Given the description of an element on the screen output the (x, y) to click on. 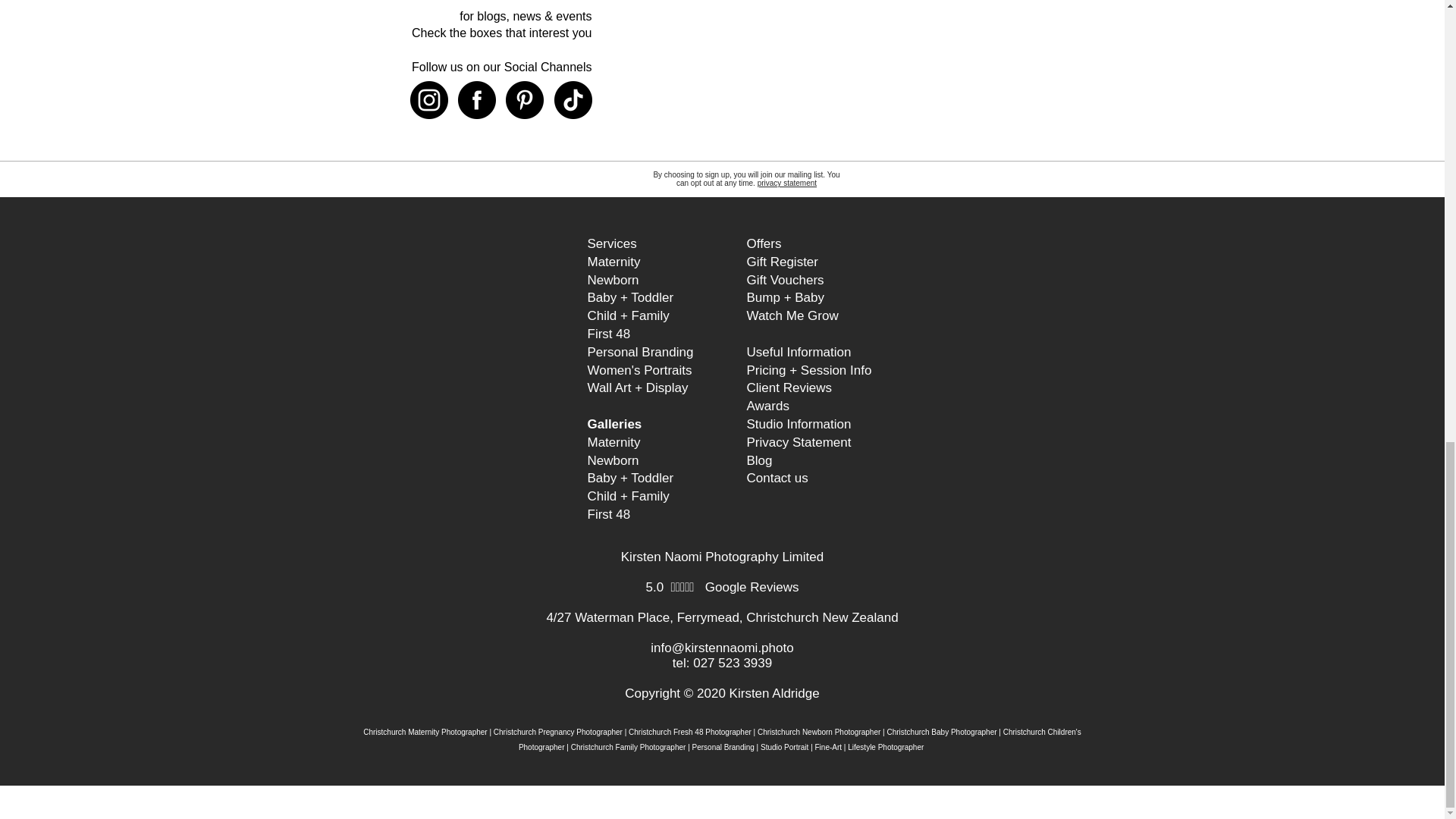
Maternity (613, 261)
Services (611, 243)
Newborn (612, 279)
privacy statement (786, 183)
